Given the description of an element on the screen output the (x, y) to click on. 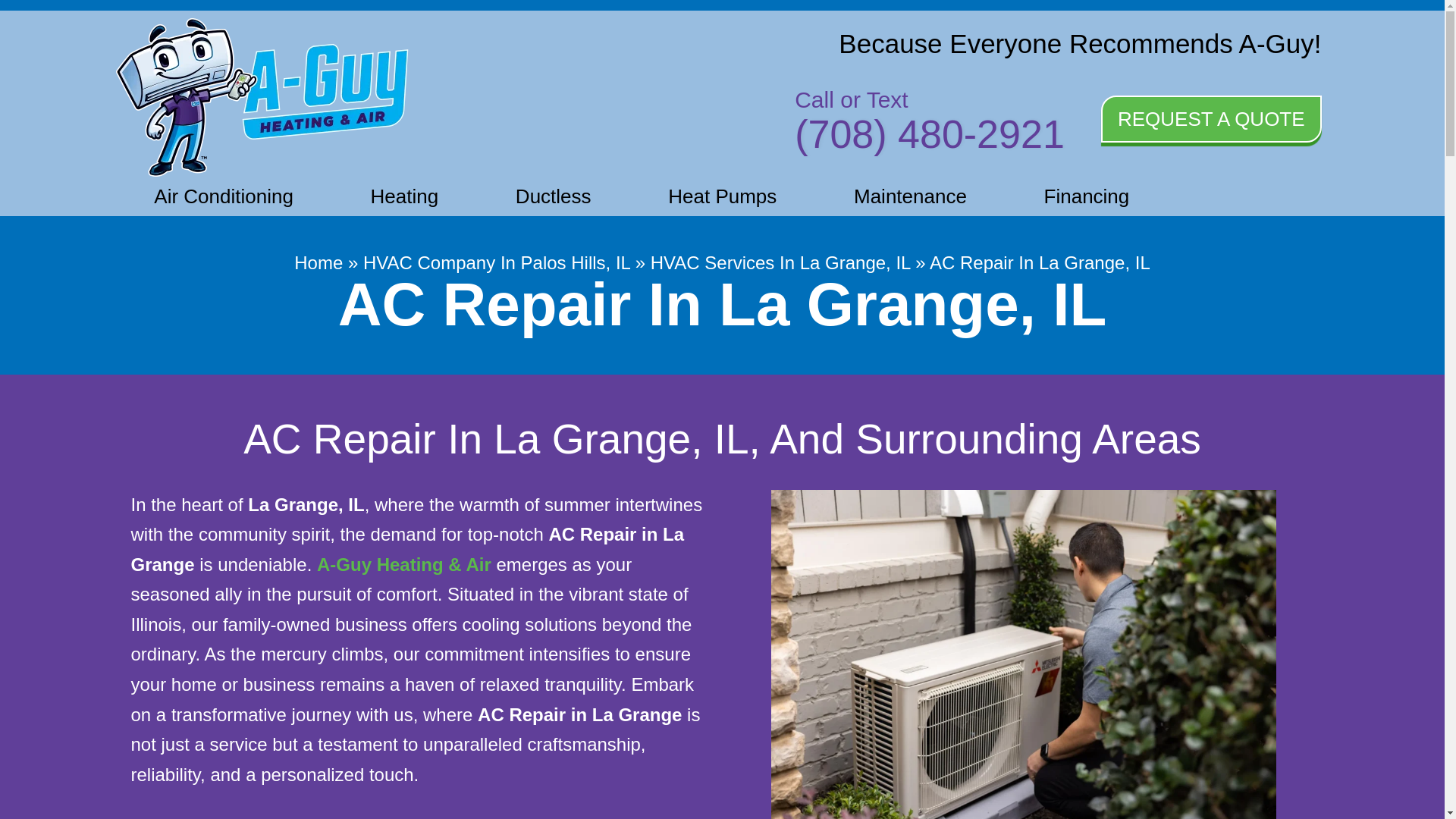
Heat Pumps (721, 196)
Air Conditioning (223, 196)
REQUEST A QUOTE (1211, 118)
Ductless (552, 196)
Heating (404, 196)
Maintenance (910, 196)
Financing (1086, 196)
